Given the description of an element on the screen output the (x, y) to click on. 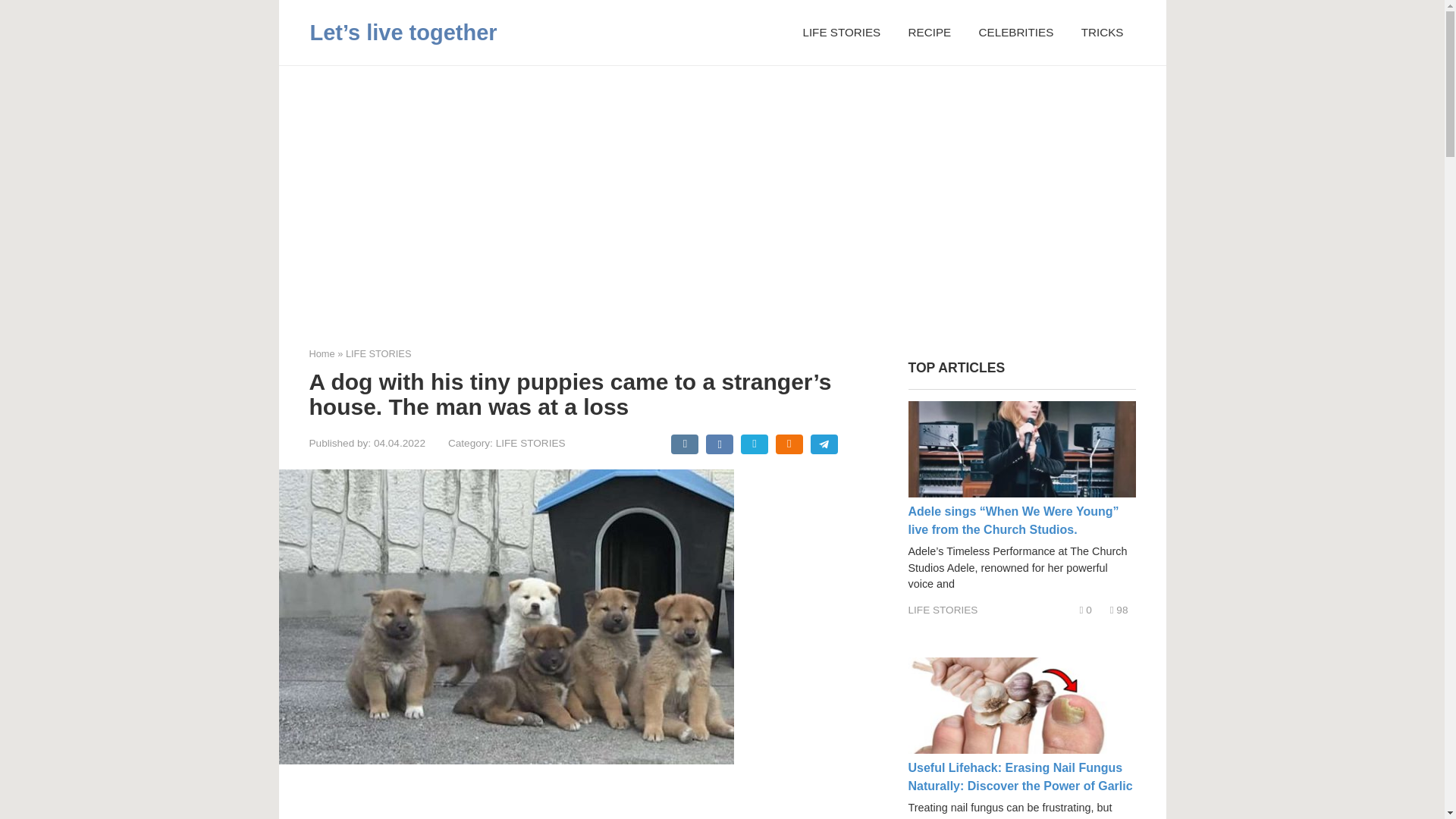
TRICKS (1102, 32)
CELEBRITIES (1016, 32)
LIFE STORIES (943, 609)
LIFE STORIES (841, 32)
RECIPE (930, 32)
Advertisement (551, 800)
LIFE STORIES (531, 442)
LIFE STORIES (379, 353)
Home (321, 353)
